Given the description of an element on the screen output the (x, y) to click on. 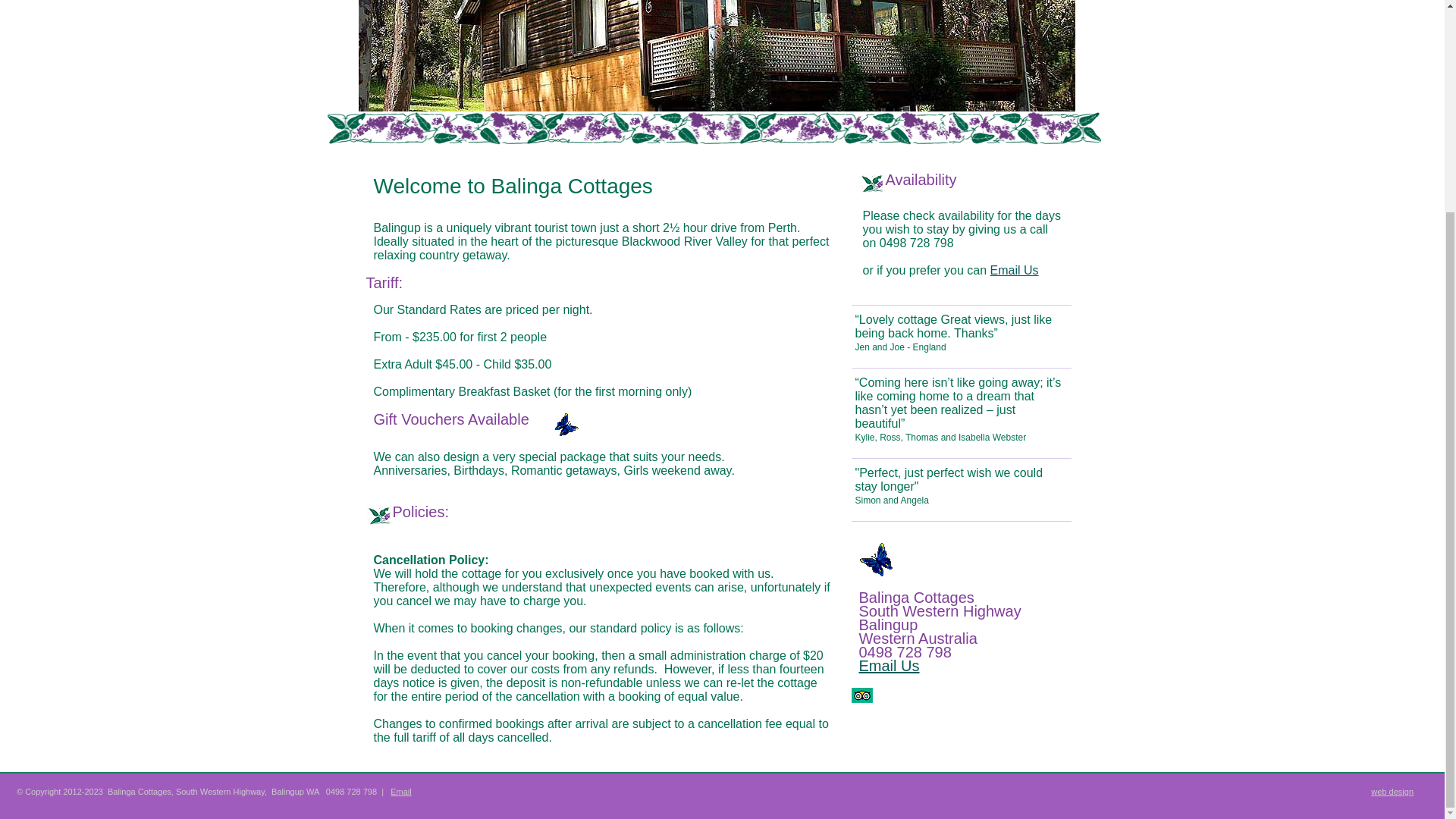
Email Us (1014, 269)
Email (401, 791)
Email Us (888, 665)
web design (1392, 791)
